Given the description of an element on the screen output the (x, y) to click on. 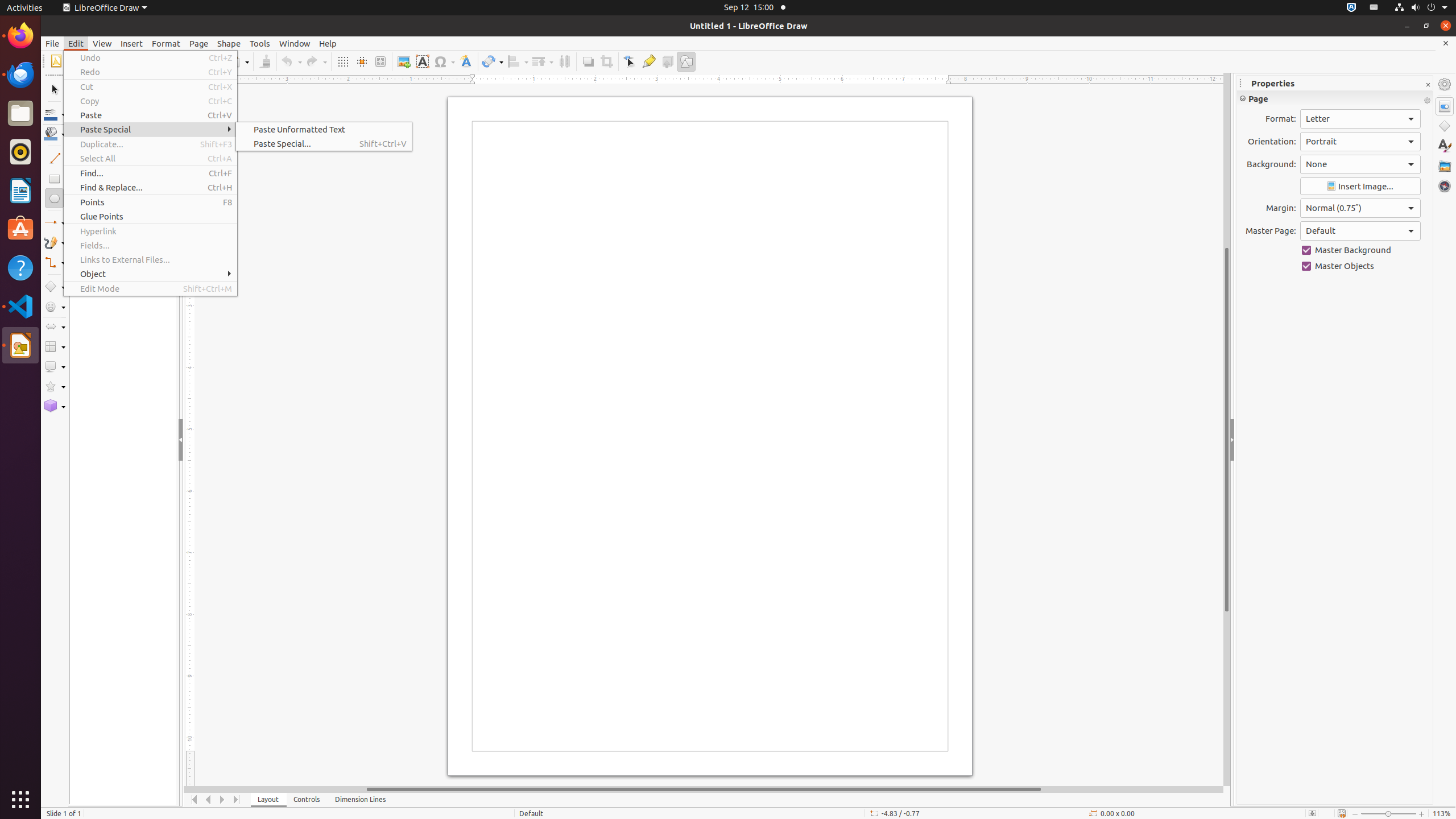
Paste Unformatted Text Element type: menu-item (323, 129)
Paste Special Element type: menu (150, 129)
Insert Image Element type: push-button (1360, 186)
File Element type: menu (51, 43)
